Given the description of an element on the screen output the (x, y) to click on. 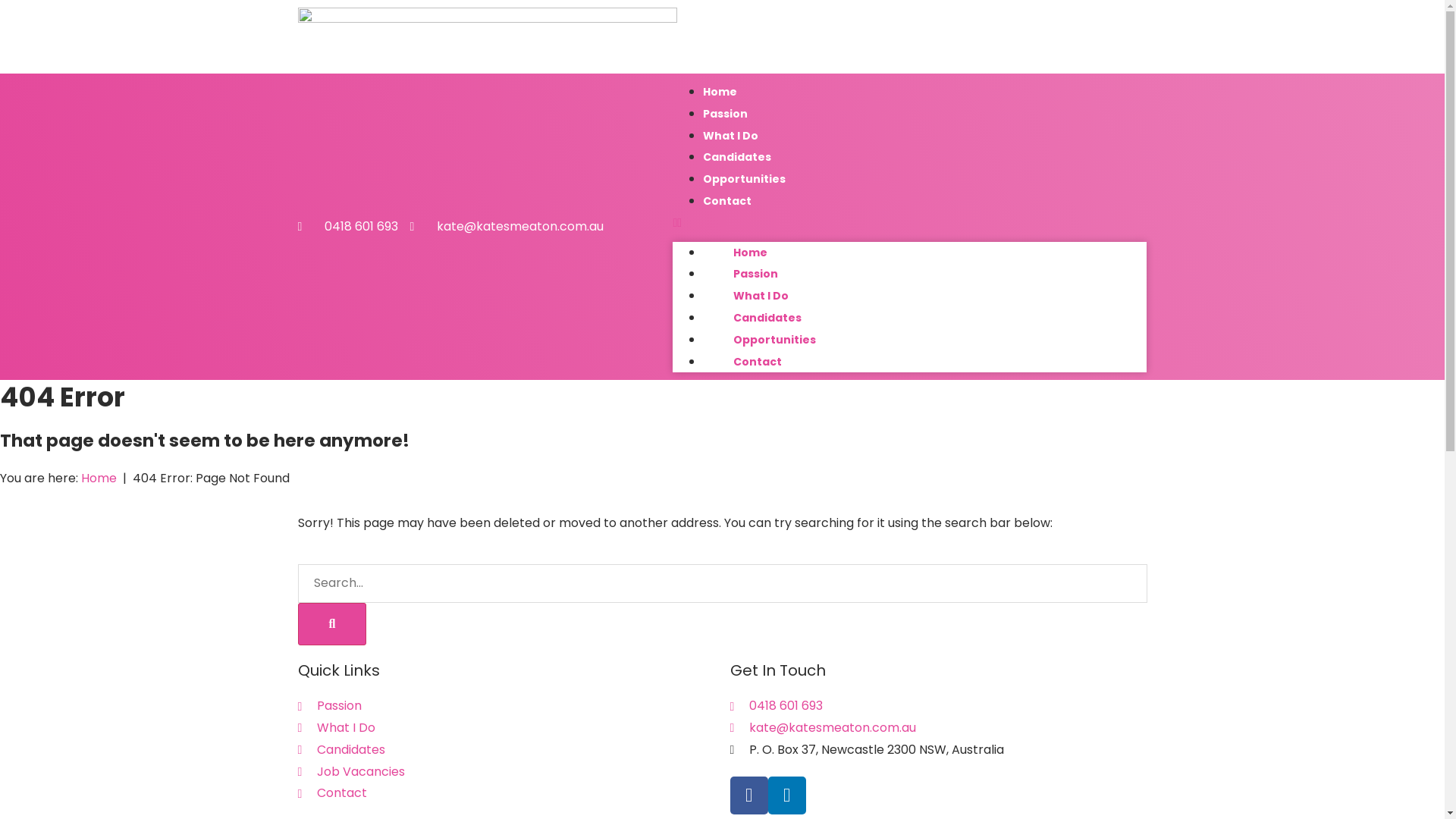
Candidates Element type: text (766, 317)
Home Element type: text (749, 252)
Contact Element type: text (726, 200)
kate@katesmeaton.com.au Element type: text (937, 728)
Job Vacancies Element type: text (505, 772)
Opportunities Element type: text (774, 339)
What I Do Element type: text (730, 135)
What I Do Element type: text (760, 295)
Passion Element type: text (755, 273)
Candidates Element type: text (736, 156)
Home Element type: text (98, 477)
0418 601 693 Element type: text (347, 227)
Contact Element type: text (505, 793)
Passion Element type: text (505, 706)
Candidates Element type: text (505, 750)
Opportunities Element type: text (743, 178)
Contact Element type: text (757, 361)
Home Element type: text (719, 91)
Passion Element type: text (724, 113)
0418 601 693 Element type: text (937, 706)
What I Do Element type: text (505, 728)
kate@katesmeaton.com.au Element type: text (505, 227)
